Given the description of an element on the screen output the (x, y) to click on. 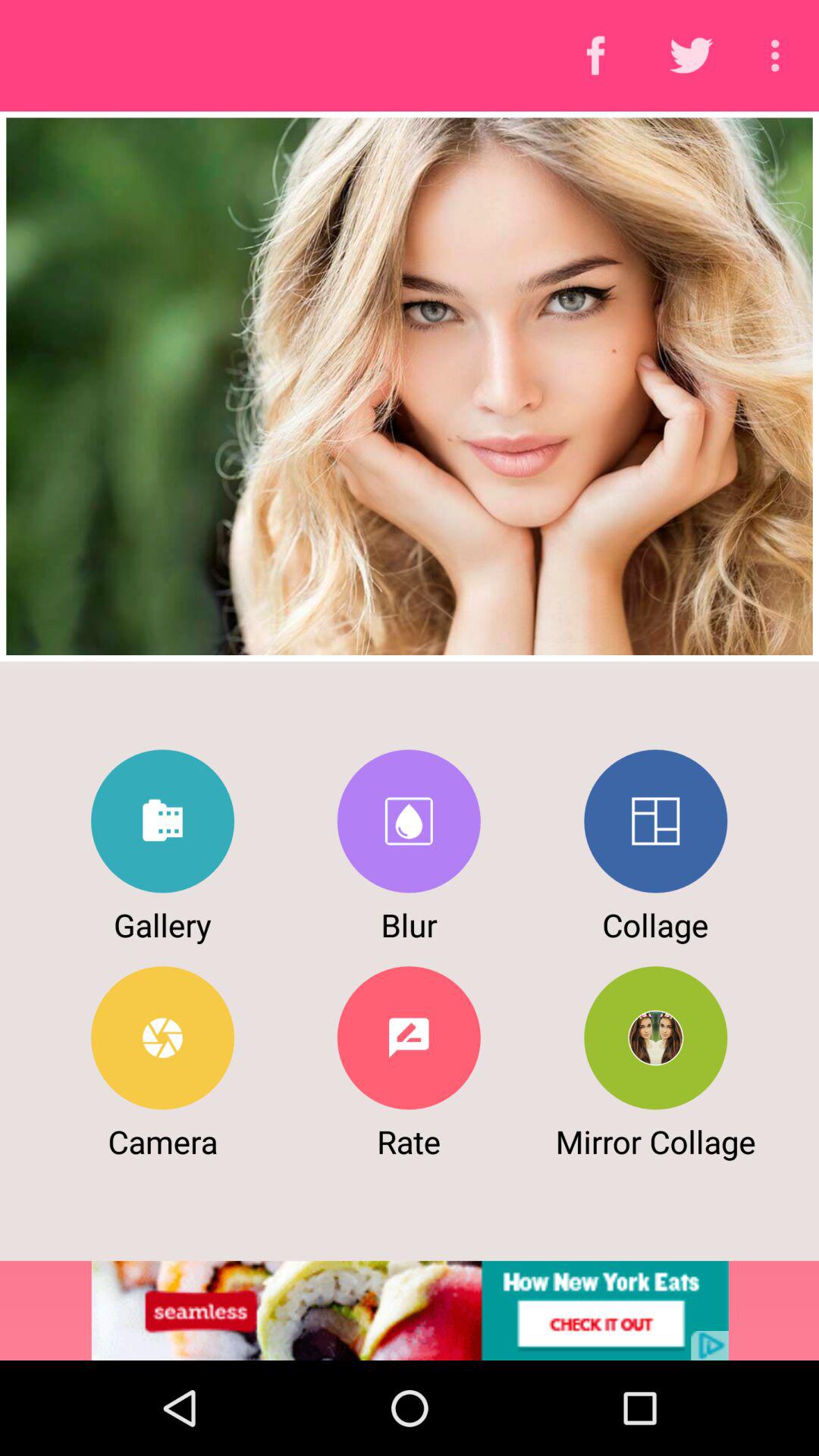
apply blur to photo (408, 820)
